Given the description of an element on the screen output the (x, y) to click on. 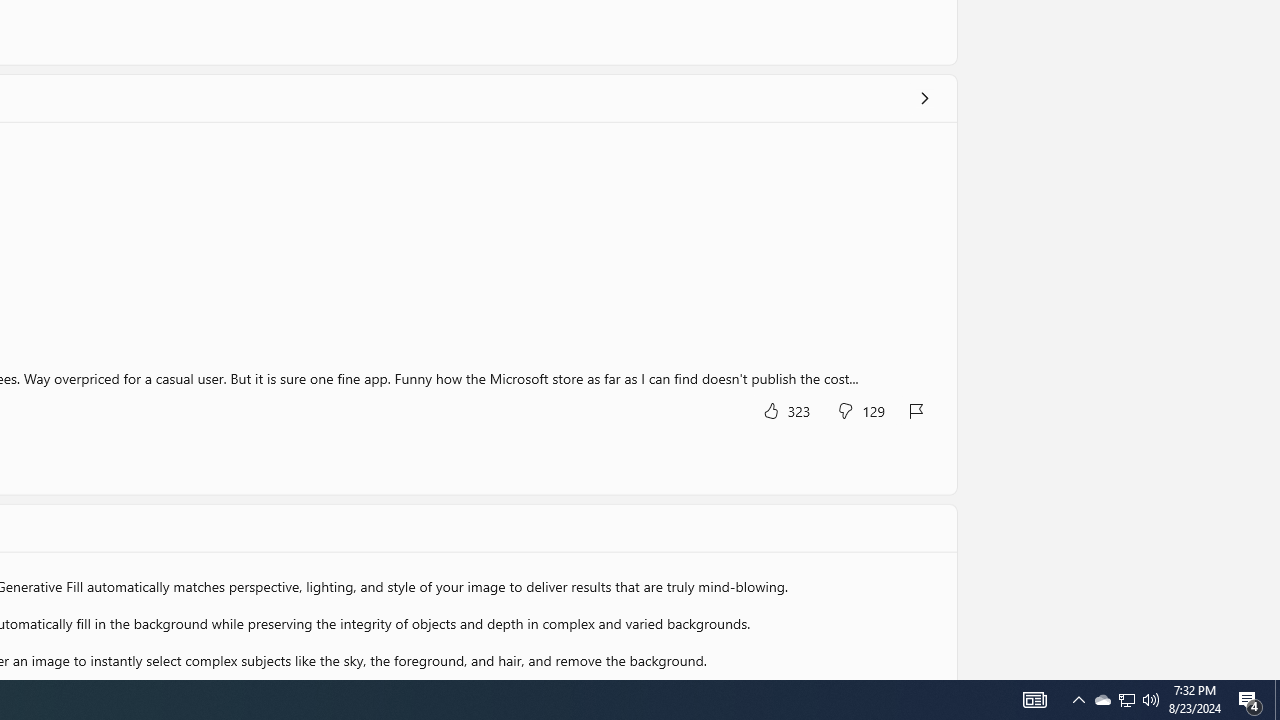
No, this was not helpful. 129 votes. (860, 410)
Show all ratings and reviews (924, 97)
Yes, this was helpful. 323 votes. (785, 410)
Report review (917, 410)
